Given the description of an element on the screen output the (x, y) to click on. 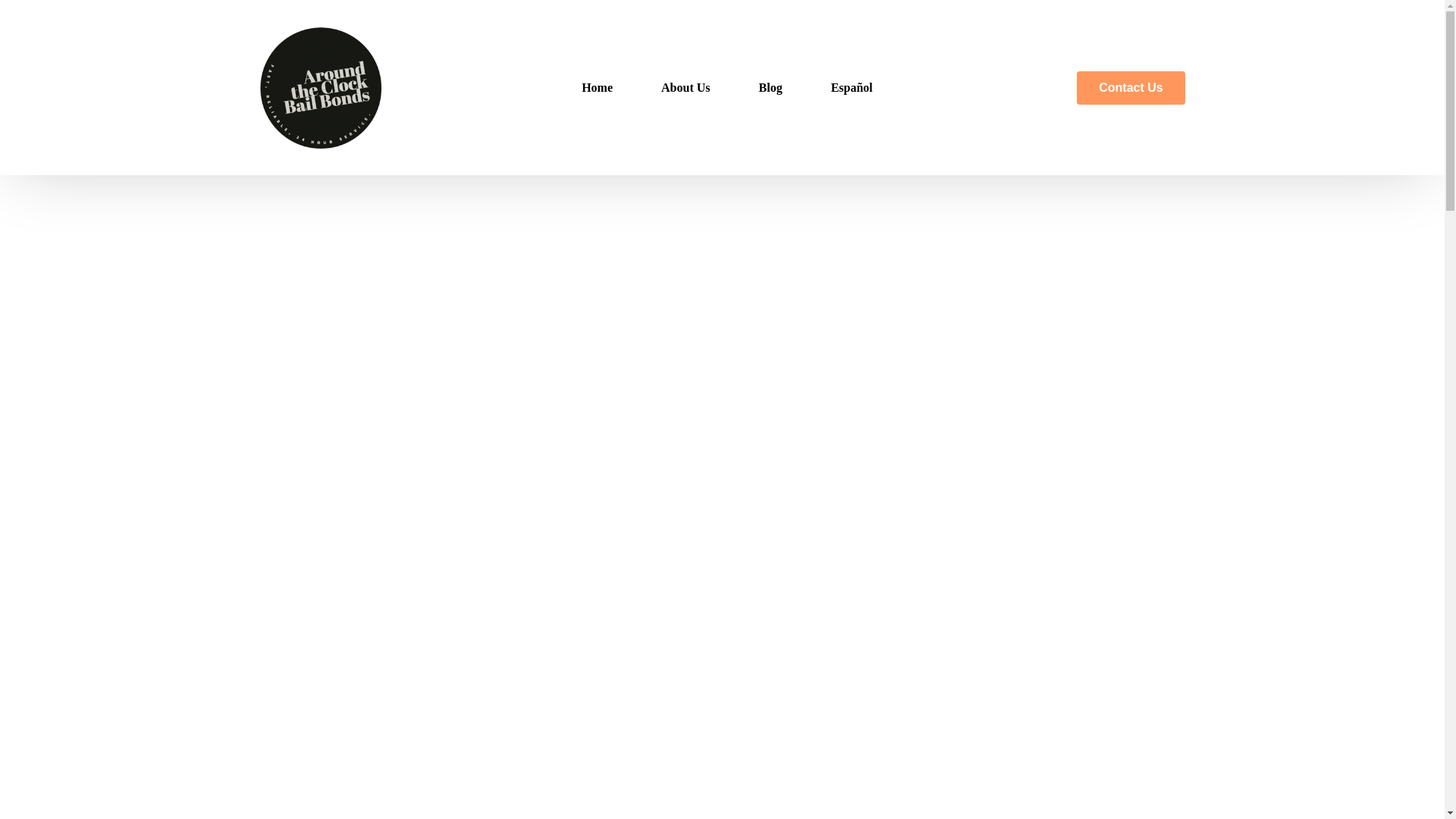
Contact Us (1131, 87)
